Given the description of an element on the screen output the (x, y) to click on. 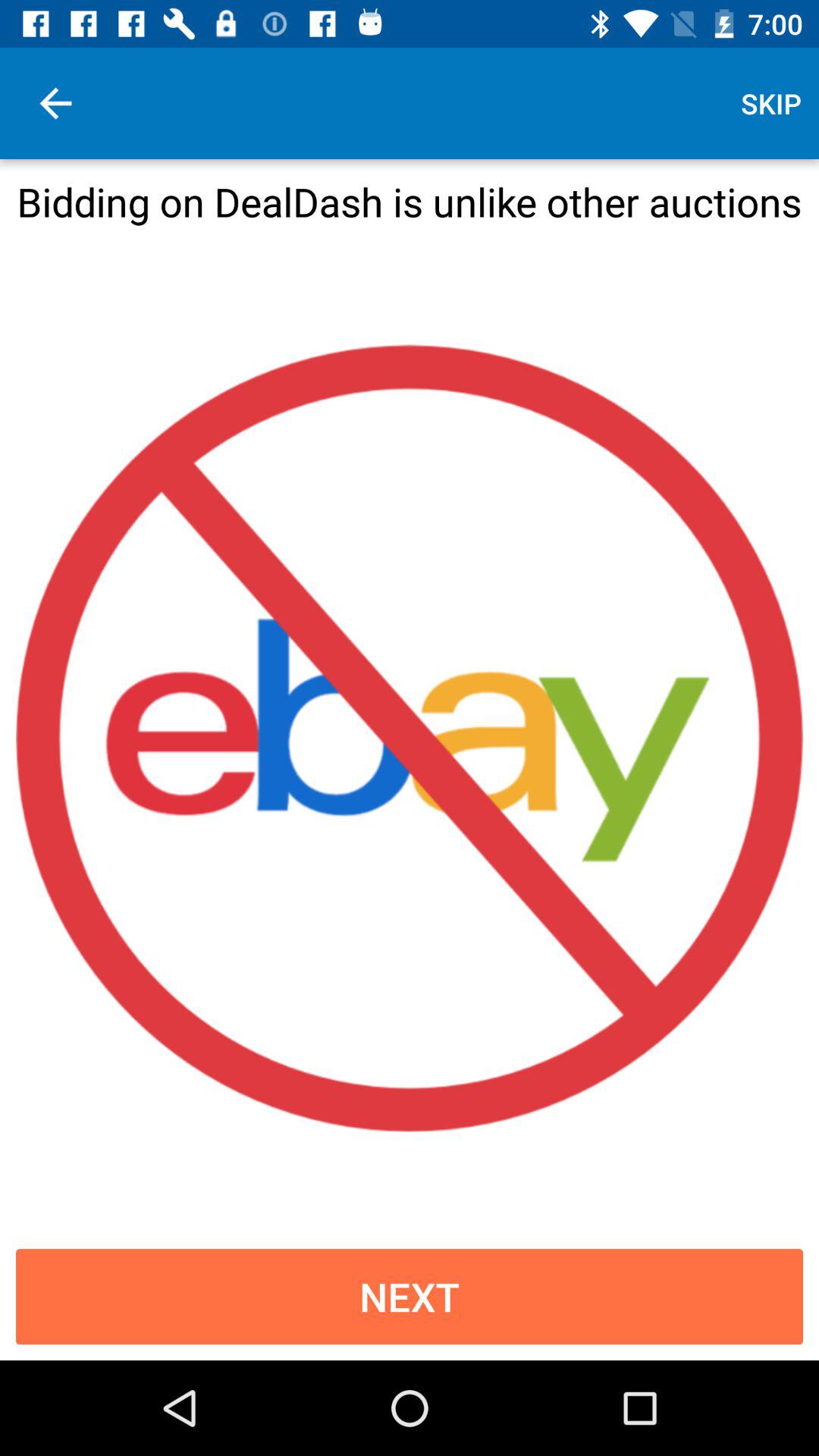
tap item above the bidding on dealdash item (771, 103)
